Given the description of an element on the screen output the (x, y) to click on. 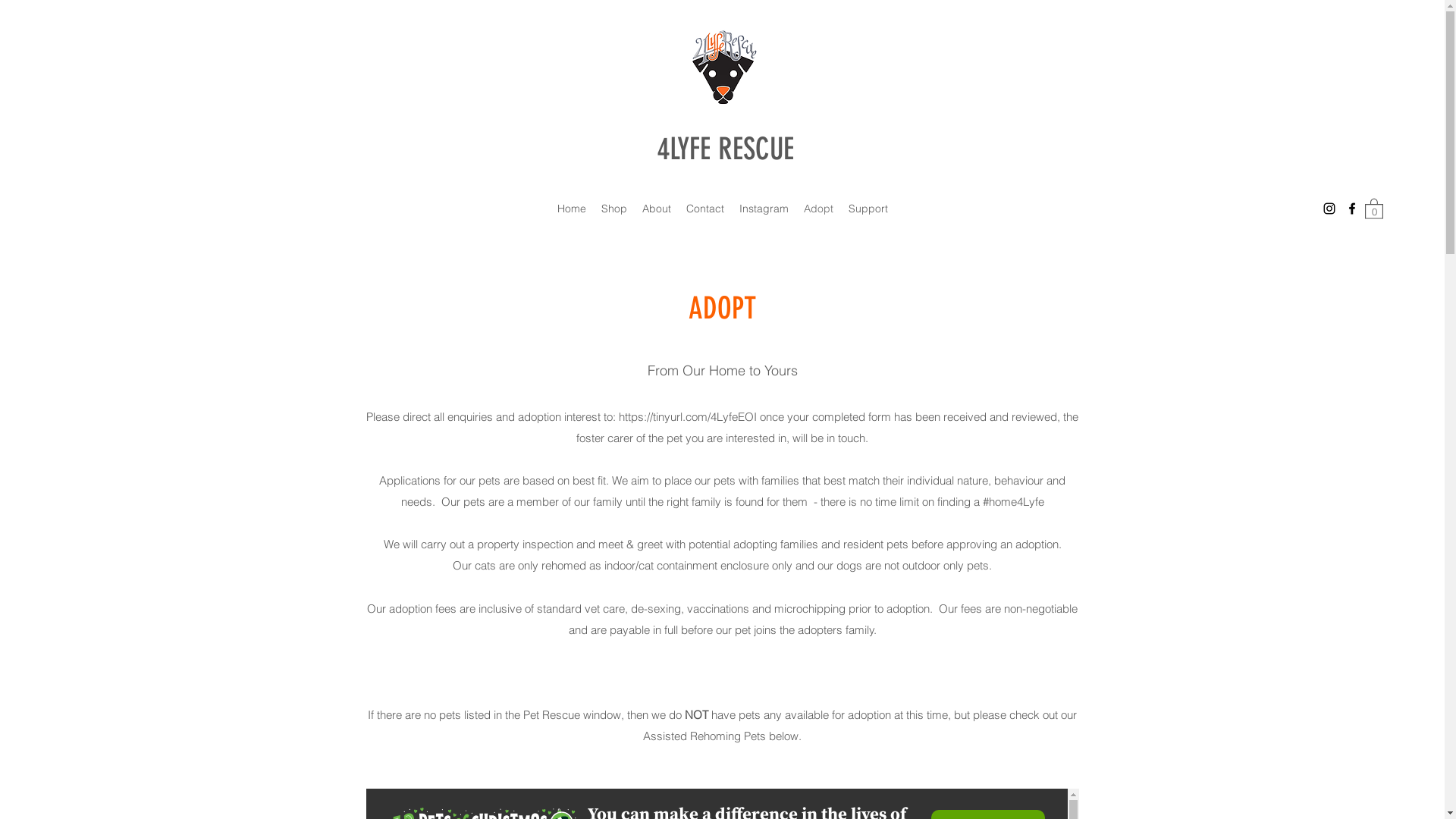
About Element type: text (655, 208)
0 Element type: text (1374, 208)
Instagram Element type: text (763, 208)
Adopt Element type: text (818, 208)
Home Element type: text (571, 208)
4LYFE RESCUE Element type: text (725, 148)
https://tinyurl.com/4LyfeEOI Element type: text (687, 416)
Shop Element type: text (613, 208)
Contact Element type: text (704, 208)
Support Element type: text (867, 208)
